Given the description of an element on the screen output the (x, y) to click on. 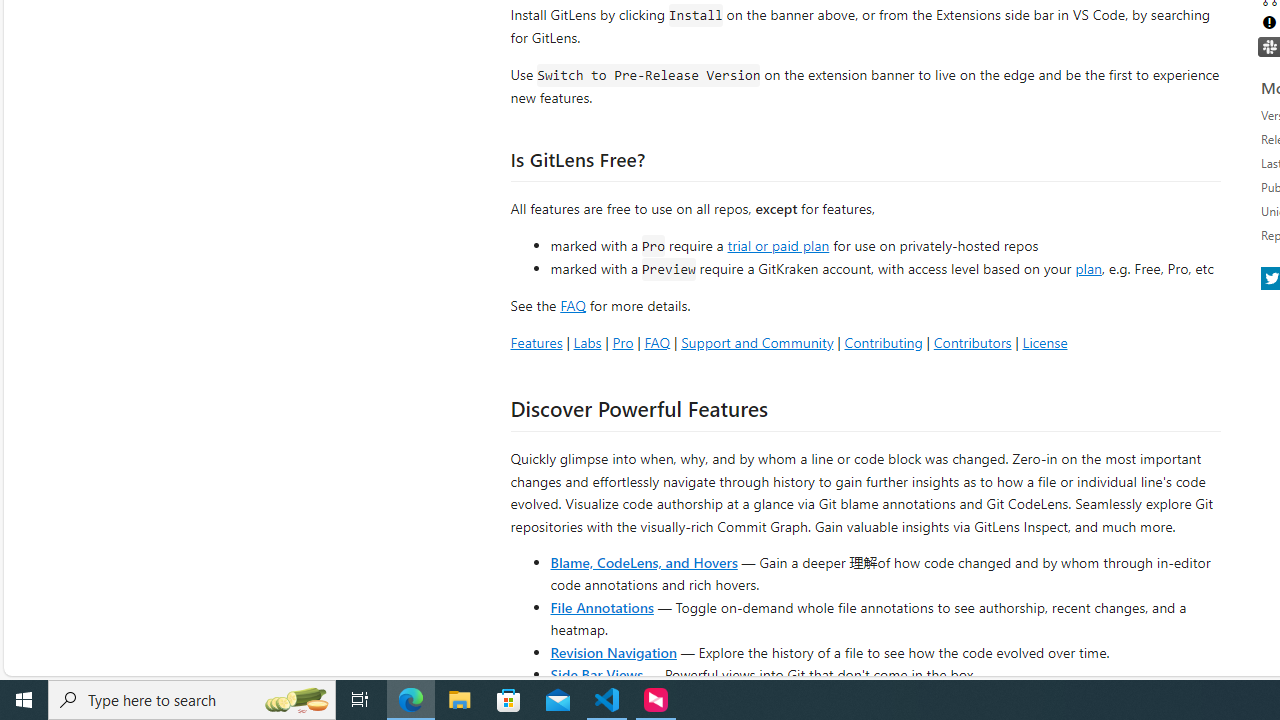
Start (24, 699)
Visual Studio Code - 1 running window (607, 699)
Microsoft Store (509, 699)
Task View (359, 699)
Microsoft Edge - 1 running window (411, 699)
Type here to search (191, 699)
File Explorer (460, 699)
Search highlights icon opens search home window (295, 699)
